Given the description of an element on the screen output the (x, y) to click on. 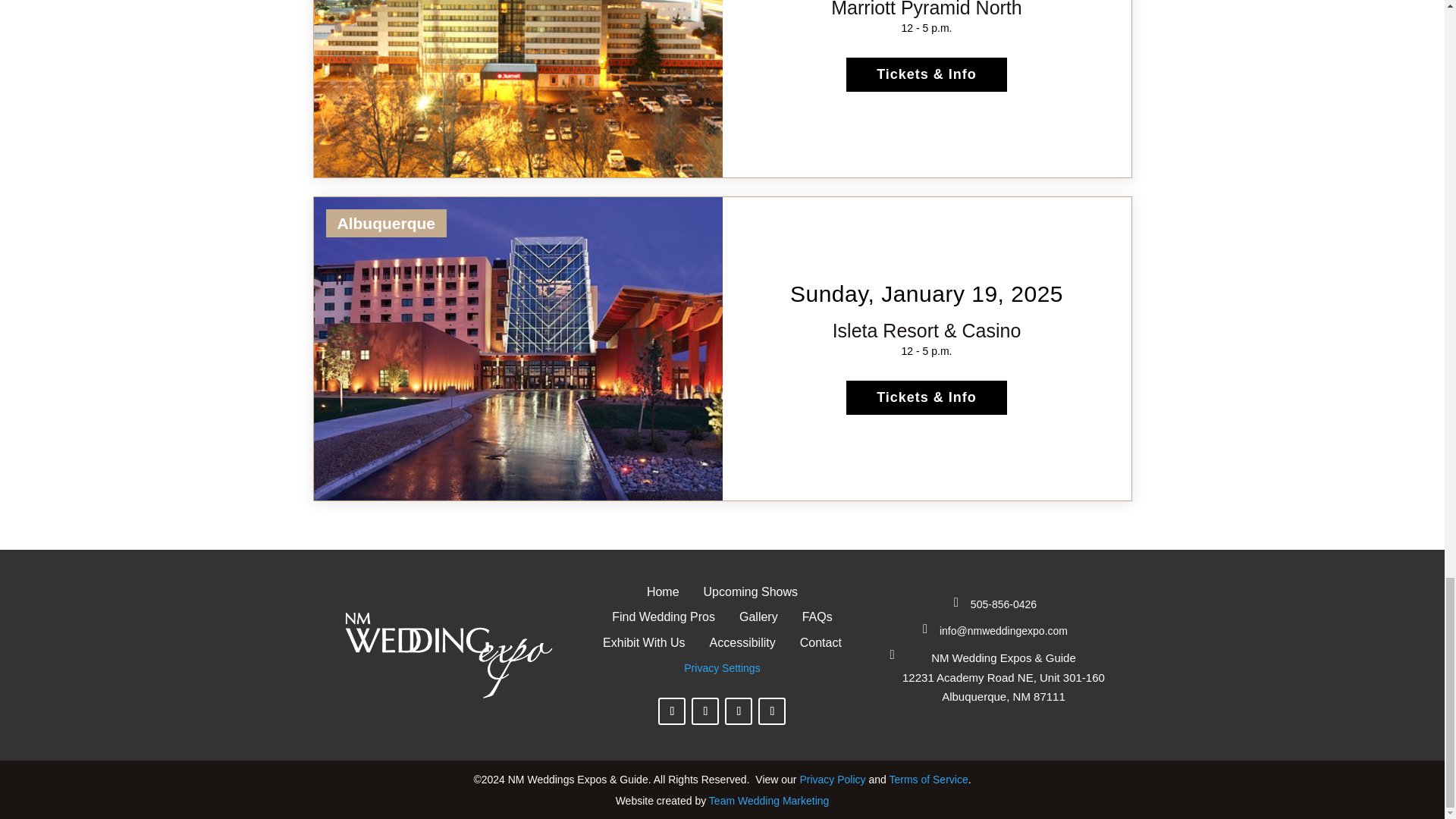
Follow on Instagram (705, 710)
Follow on Facebook (671, 710)
NM-Wedding-Expo-Whilte-Logo (448, 655)
Follow on Pinterest (738, 710)
Follow on Youtube (772, 710)
